Given the description of an element on the screen output the (x, y) to click on. 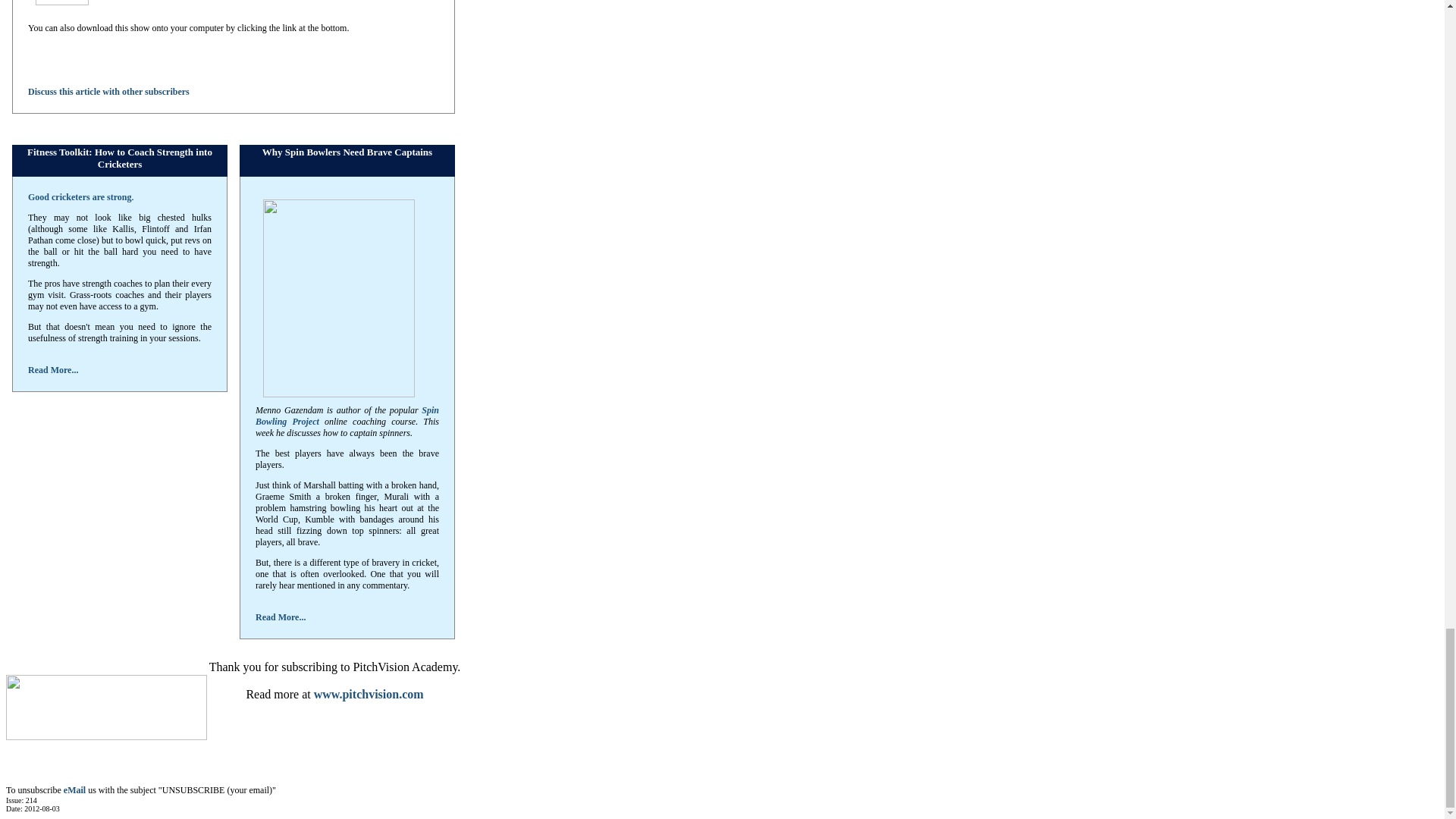
eMail (74, 789)
Spin Bowling Project (347, 415)
Read More... (280, 616)
Discuss this article with other subscribers (108, 91)
Good cricketers are strong (79, 196)
www.pitchvision.com (368, 694)
Read More... (52, 369)
